Given the description of an element on the screen output the (x, y) to click on. 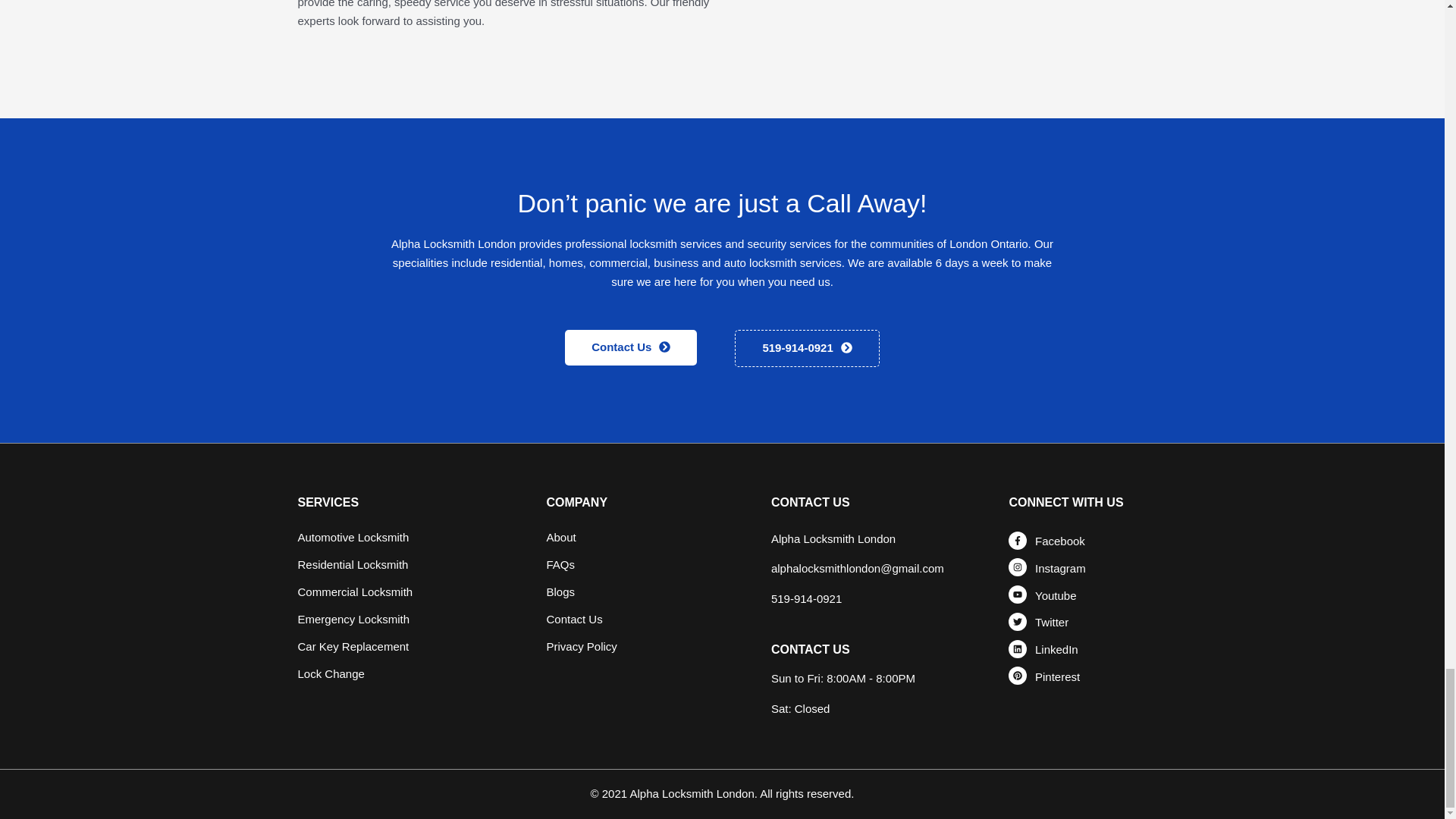
Automotive Locksmith Dorchester 2 (938, 55)
